Given the description of an element on the screen output the (x, y) to click on. 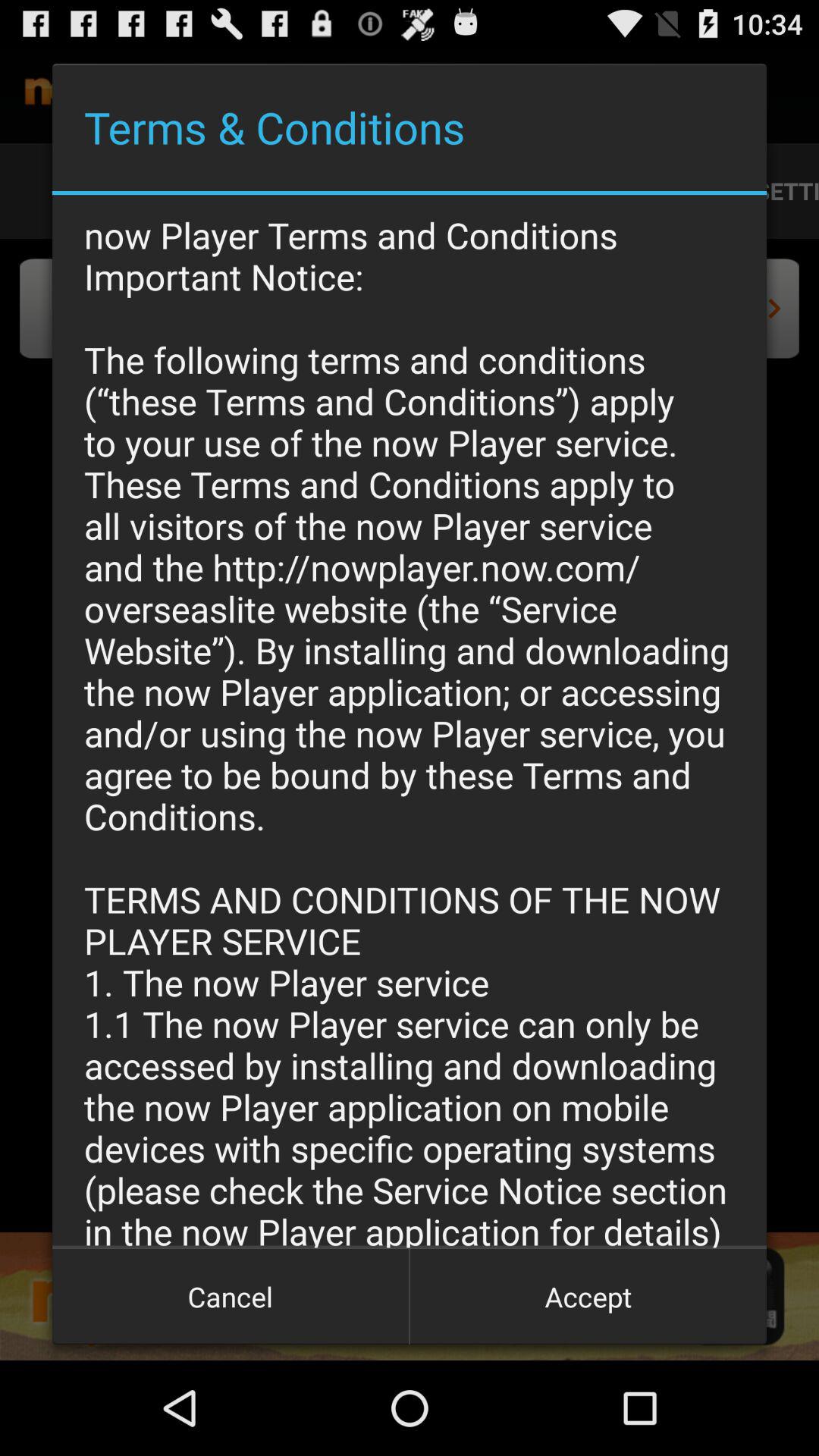
turn off the item below the now player terms app (588, 1296)
